Given the description of an element on the screen output the (x, y) to click on. 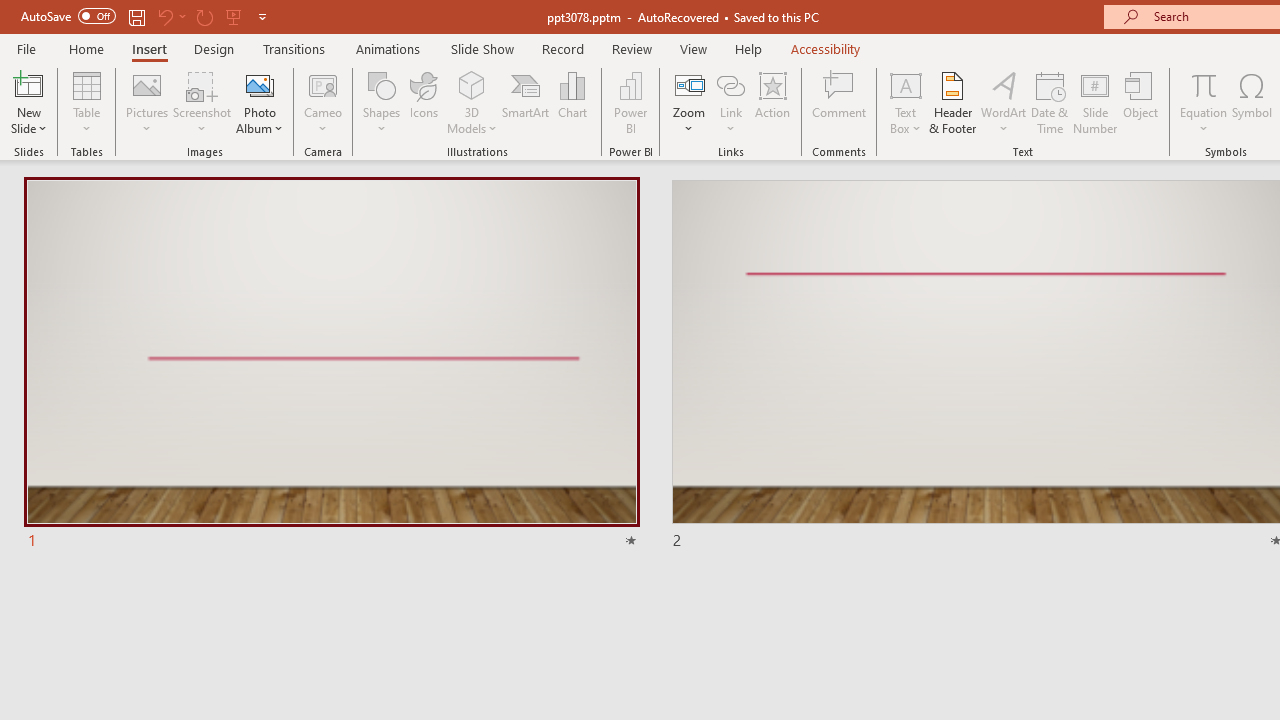
Equation (1203, 84)
Equation (1203, 102)
Table (86, 102)
New Photo Album... (259, 84)
Link (731, 84)
Action (772, 102)
Object... (1141, 102)
Screenshot (202, 102)
